Given the description of an element on the screen output the (x, y) to click on. 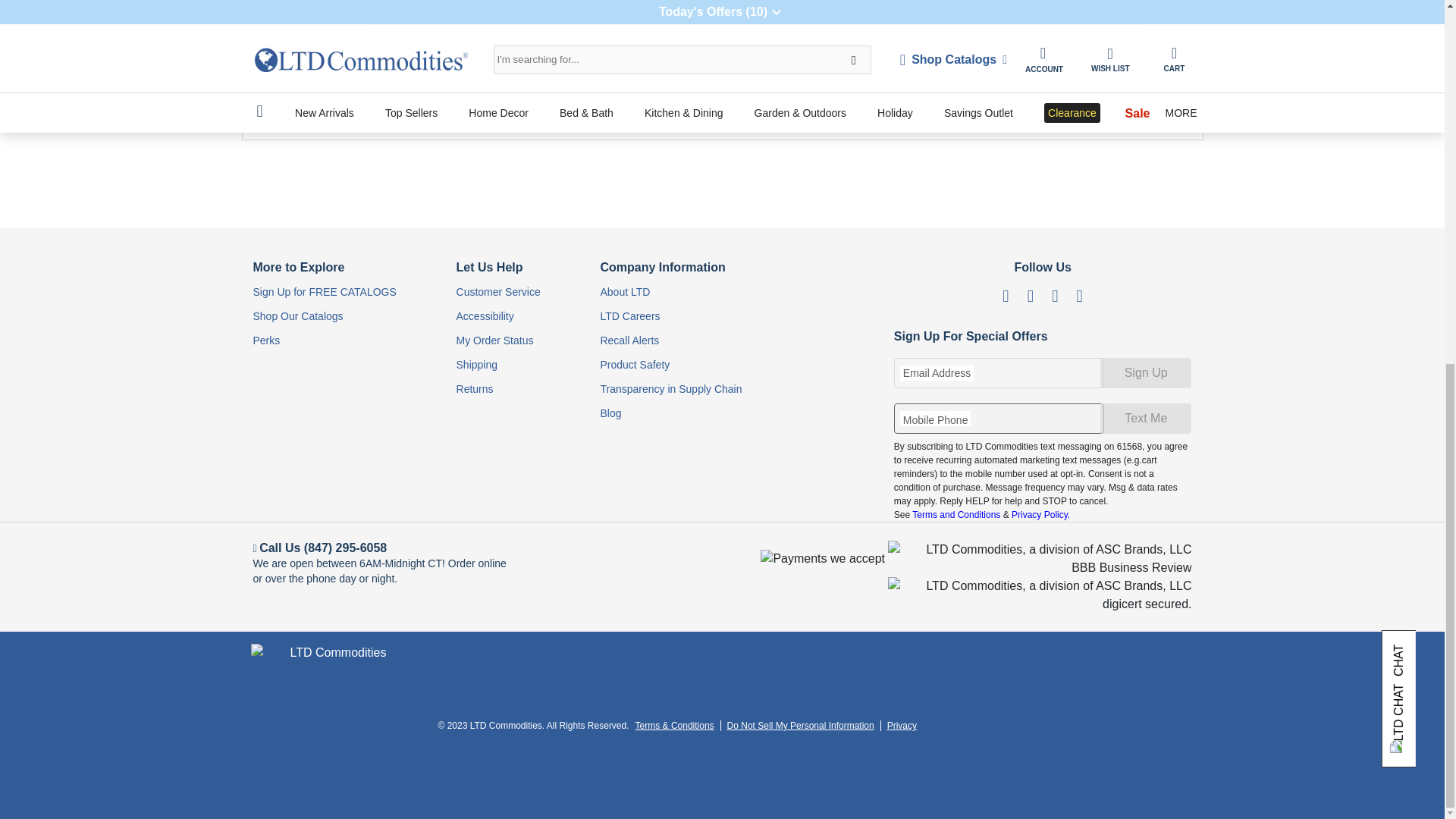
Personalized Watercolor Succulents and Cowboy Boots Doormat (278, 2)
